Given the description of an element on the screen output the (x, y) to click on. 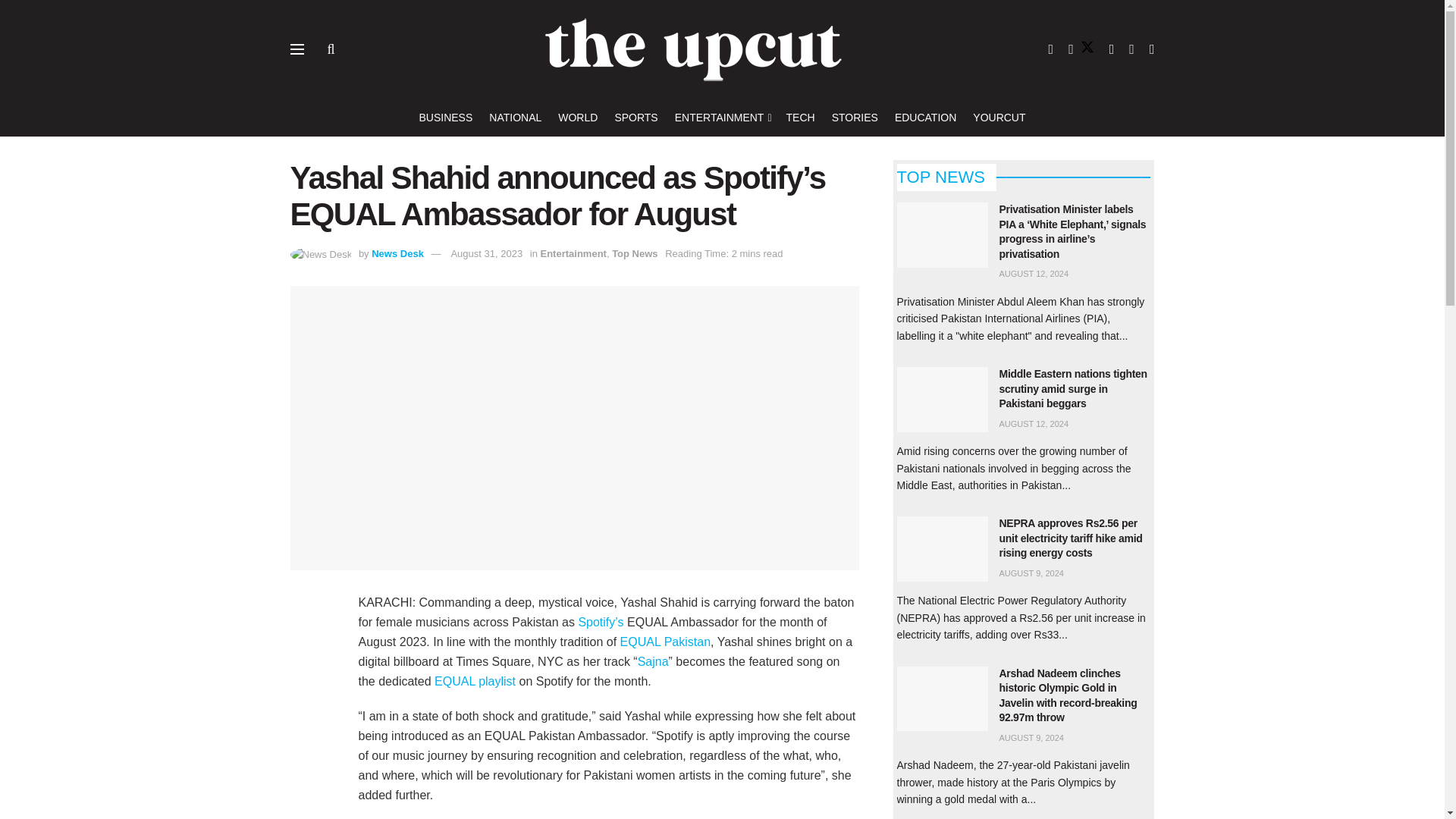
BUSINESS (445, 117)
ENTERTAINMENT (722, 117)
NATIONAL (515, 117)
YOURCUT (998, 117)
STORIES (854, 117)
Top News (634, 253)
August 31, 2023 (485, 253)
SPORTS (636, 117)
News Desk (397, 253)
WORLD (576, 117)
